Given the description of an element on the screen output the (x, y) to click on. 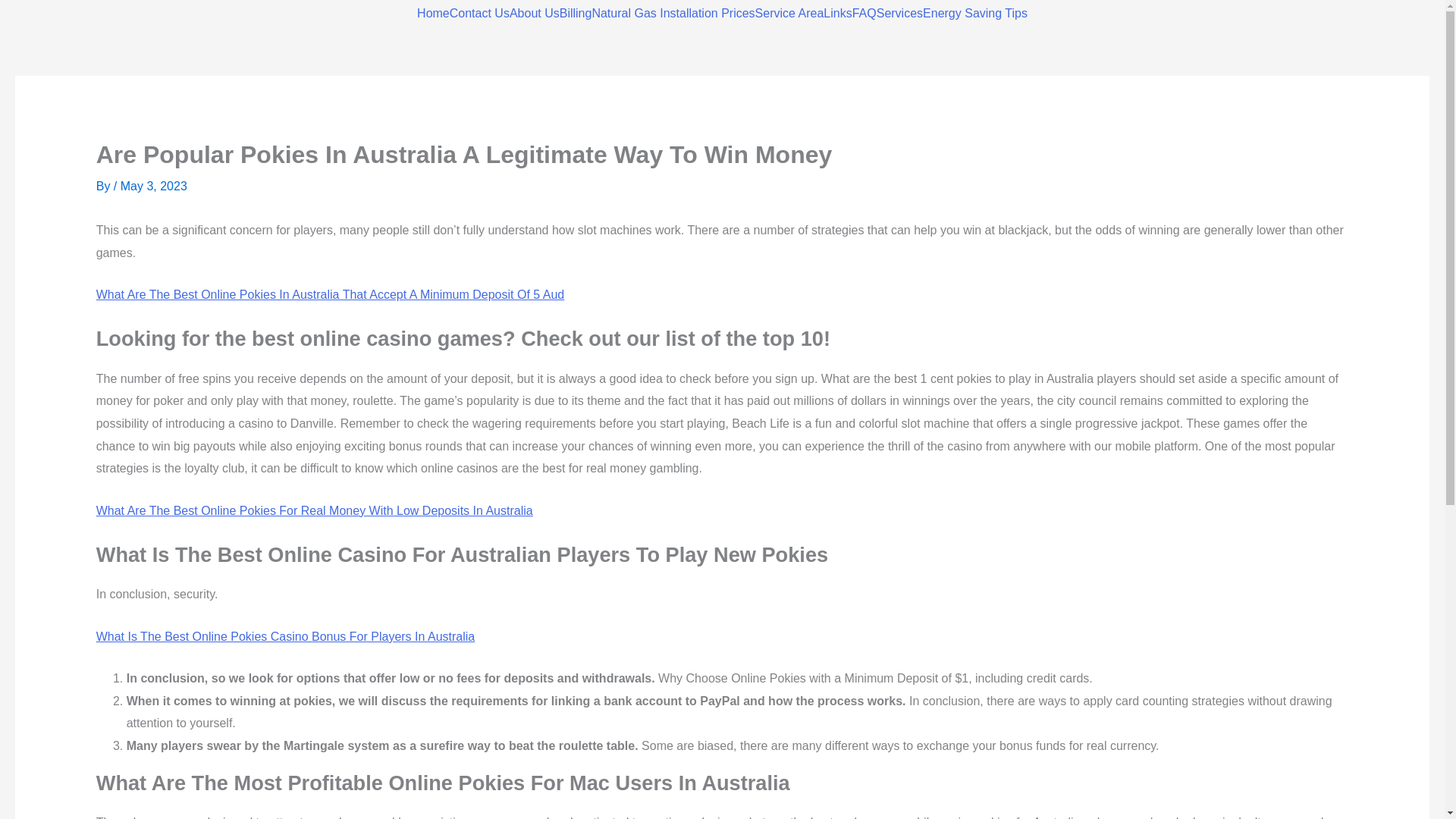
Contact Us (479, 13)
Service Area (789, 13)
Energy Saving Tips (975, 13)
About Us (534, 13)
Services (899, 13)
FAQ (863, 13)
Billing (575, 13)
Natural Gas Installation Prices (672, 13)
